Given the description of an element on the screen output the (x, y) to click on. 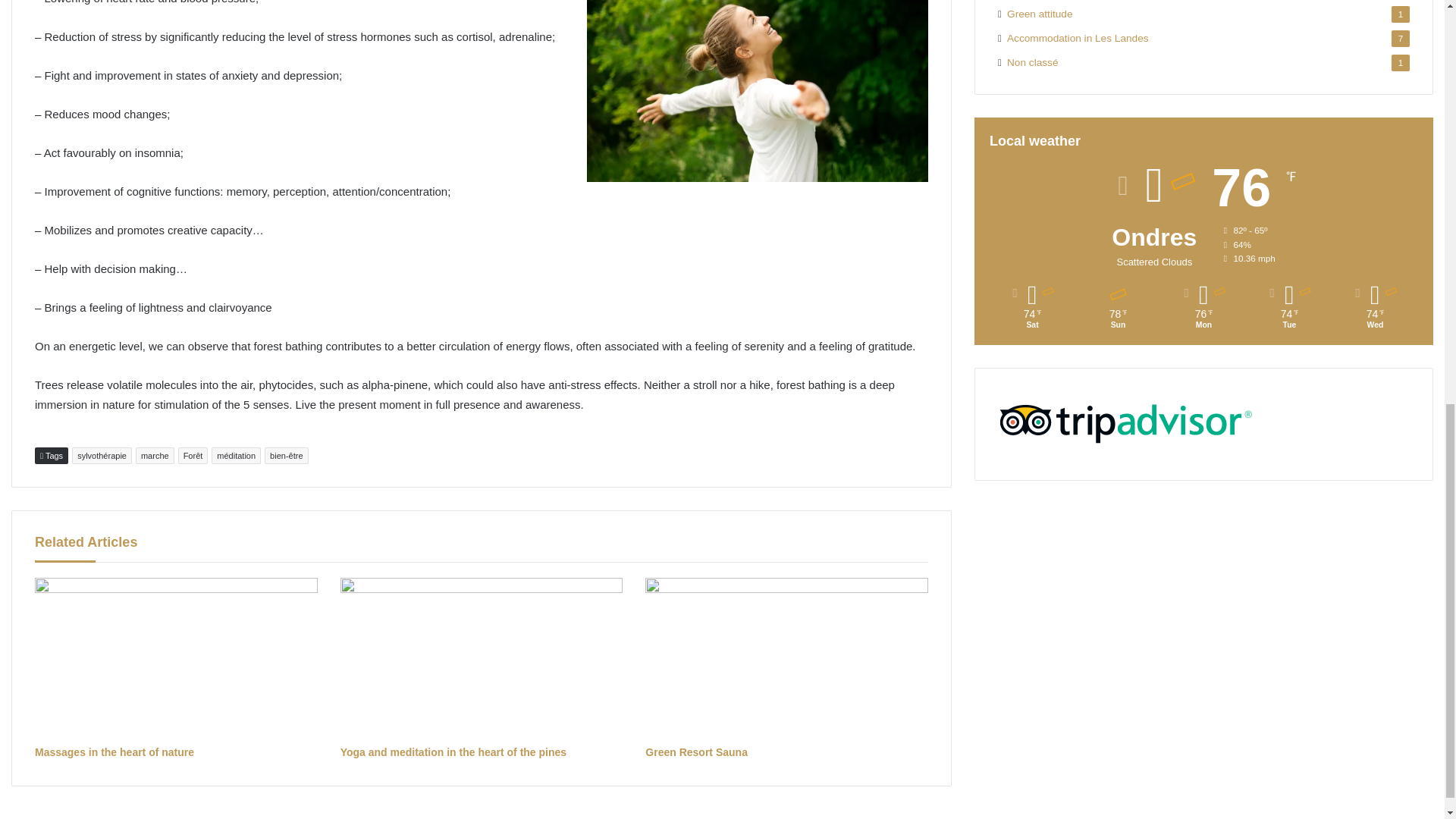
Green Resort Sauna (786, 657)
Yoga and meditation in the heart of the pines (453, 752)
Yoga and meditation in the heart of the pines (481, 657)
Massages in the heart of nature (113, 752)
Green Resort Sauna (696, 752)
Massages in the heart of nature (175, 657)
